Given the description of an element on the screen output the (x, y) to click on. 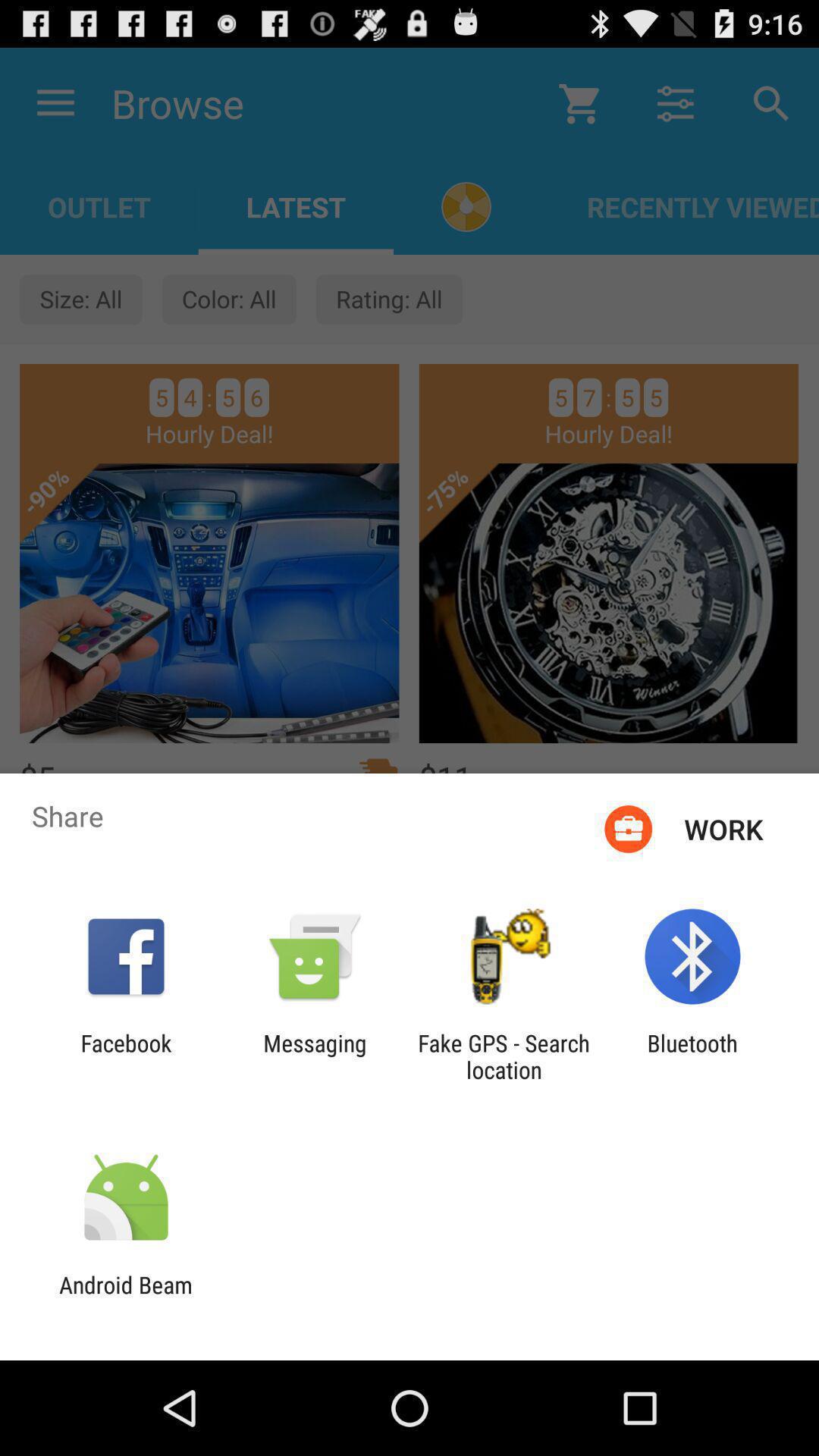
open bluetooth (692, 1056)
